Given the description of an element on the screen output the (x, y) to click on. 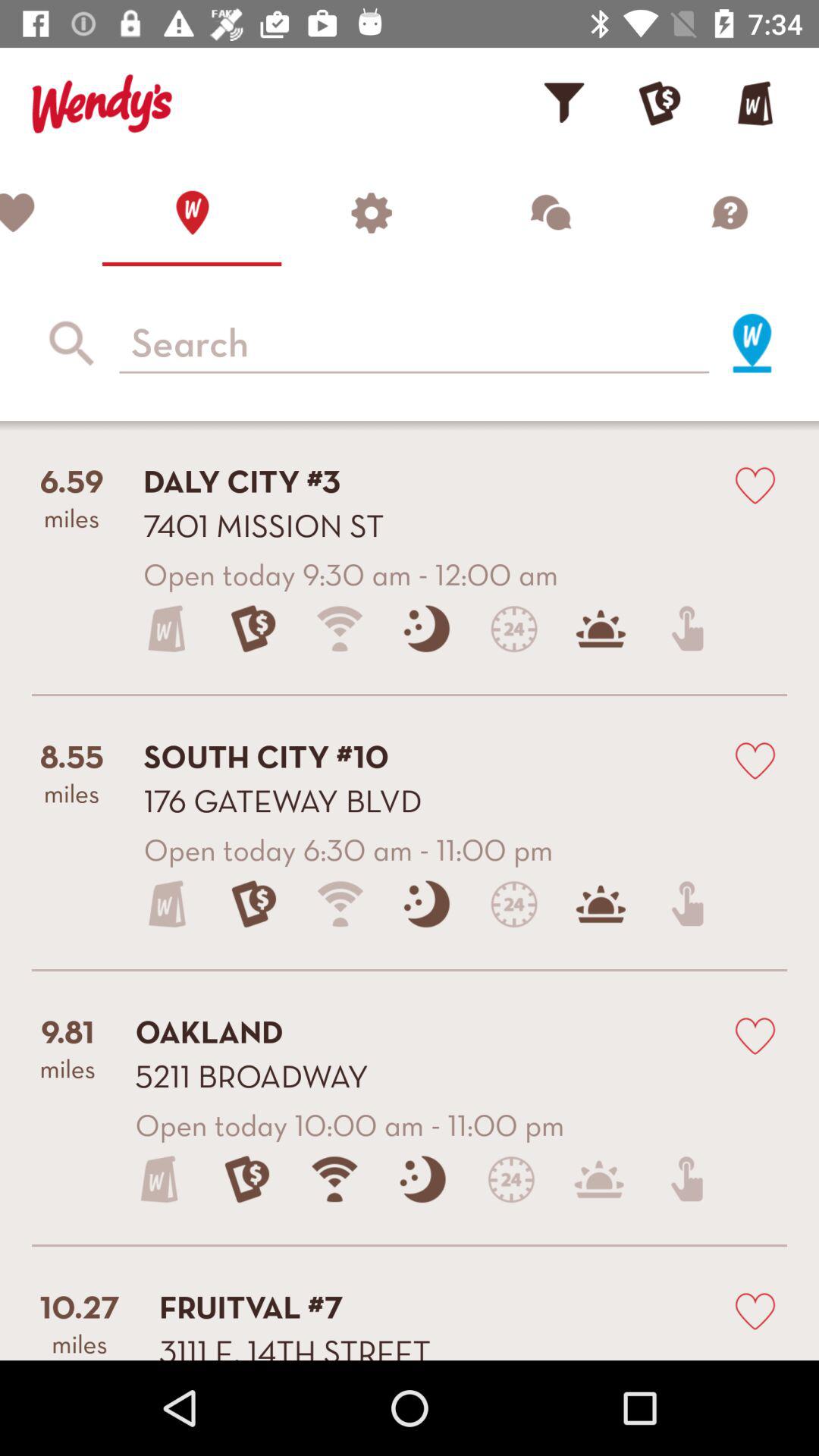
input a search string (414, 343)
